Given the description of an element on the screen output the (x, y) to click on. 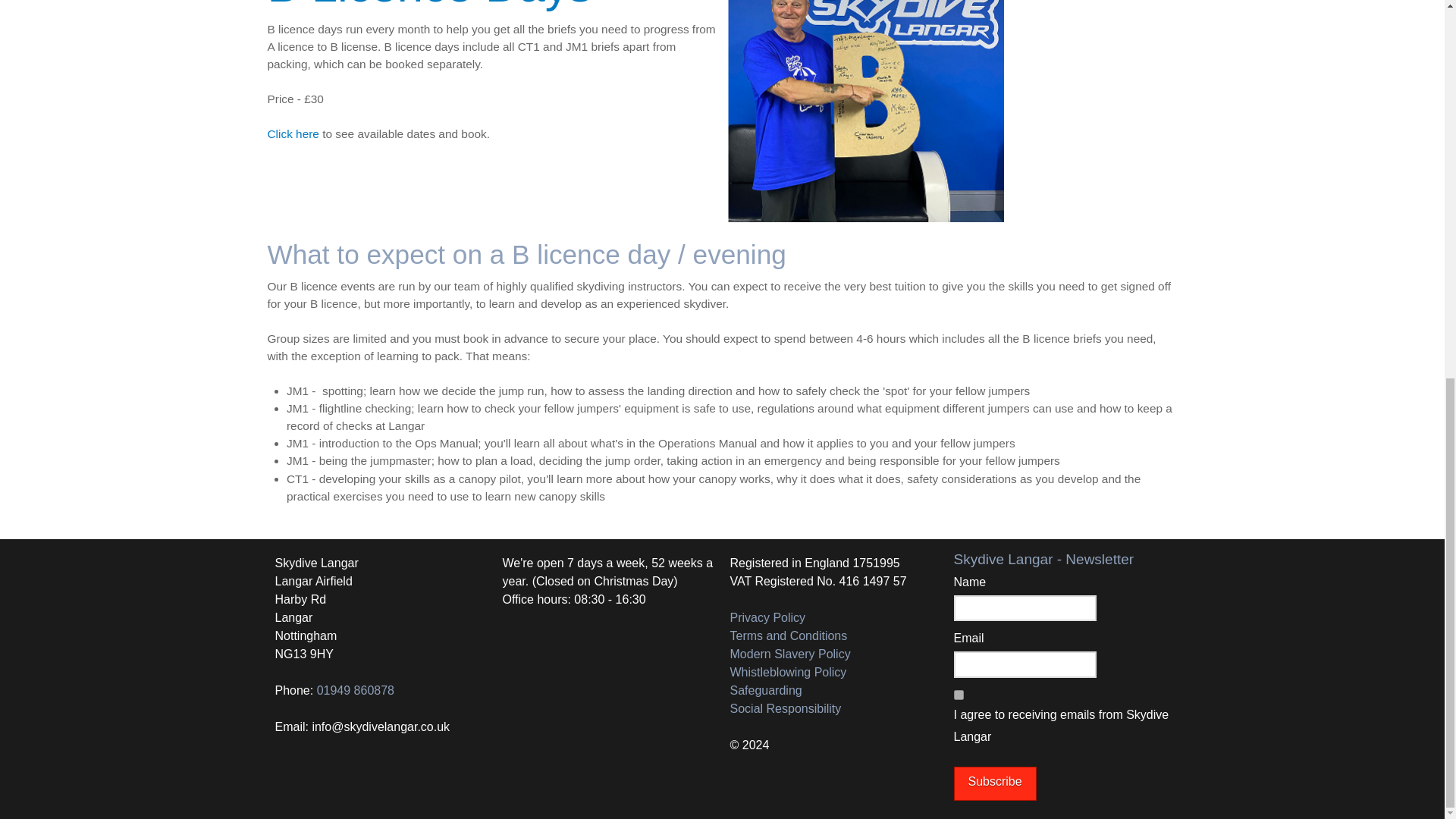
Privacy Policy (767, 617)
Whistleblowing Policy (787, 671)
Terms and Conditions (788, 635)
Click here (292, 133)
on (958, 694)
Modern Slavery Policy (789, 653)
01949 860878 (355, 689)
